Given the description of an element on the screen output the (x, y) to click on. 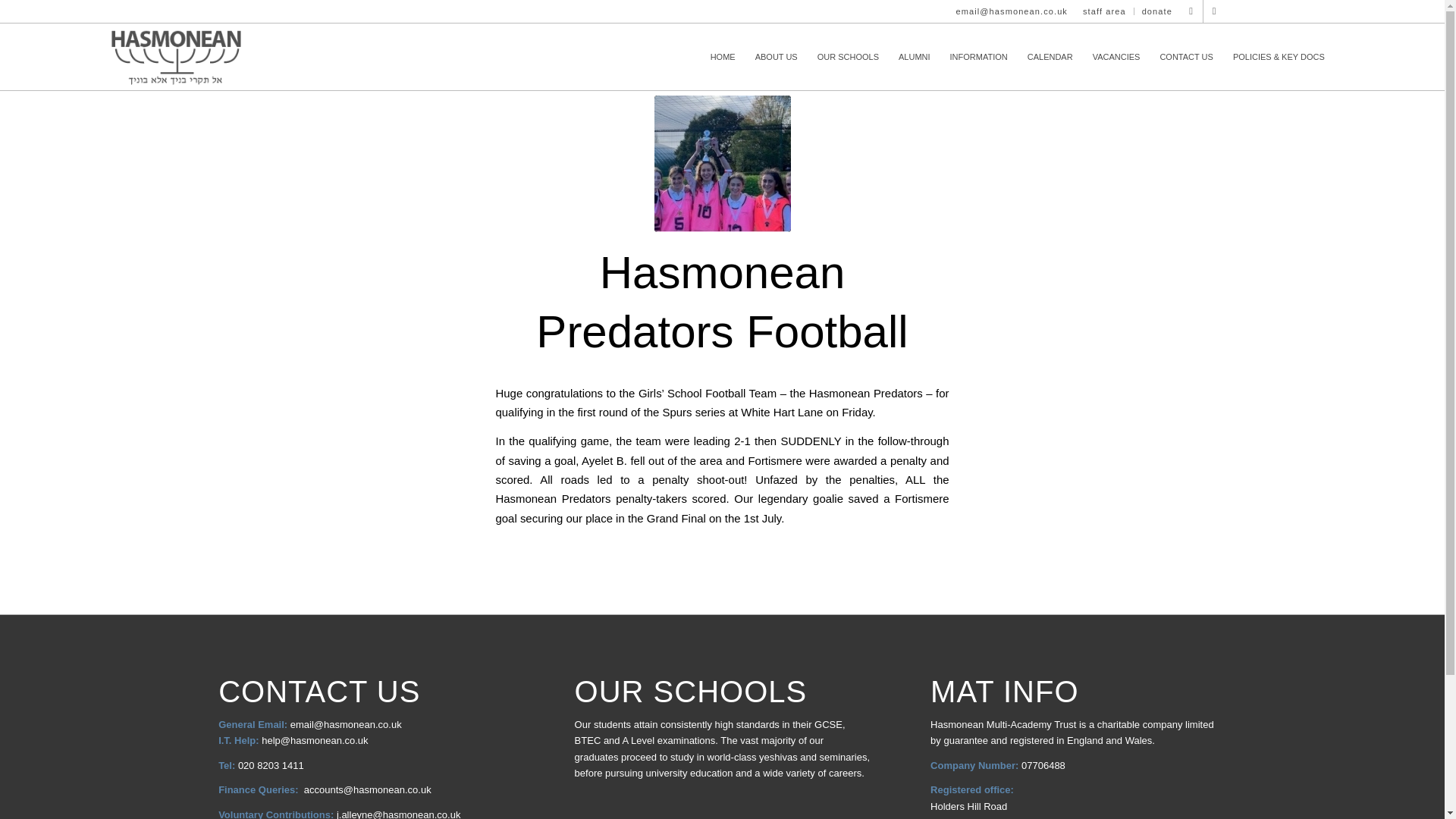
Facebook (1214, 11)
CALENDAR (1050, 56)
CONTACT US (1186, 56)
staff area (1104, 11)
INFORMATION (978, 56)
Twitter (1191, 11)
donate (1156, 11)
Permanent Link: Hasmonean Predators Football (721, 302)
OUR SCHOOLS (848, 56)
Hasmonean Predators Football (721, 302)
